Given the description of an element on the screen output the (x, y) to click on. 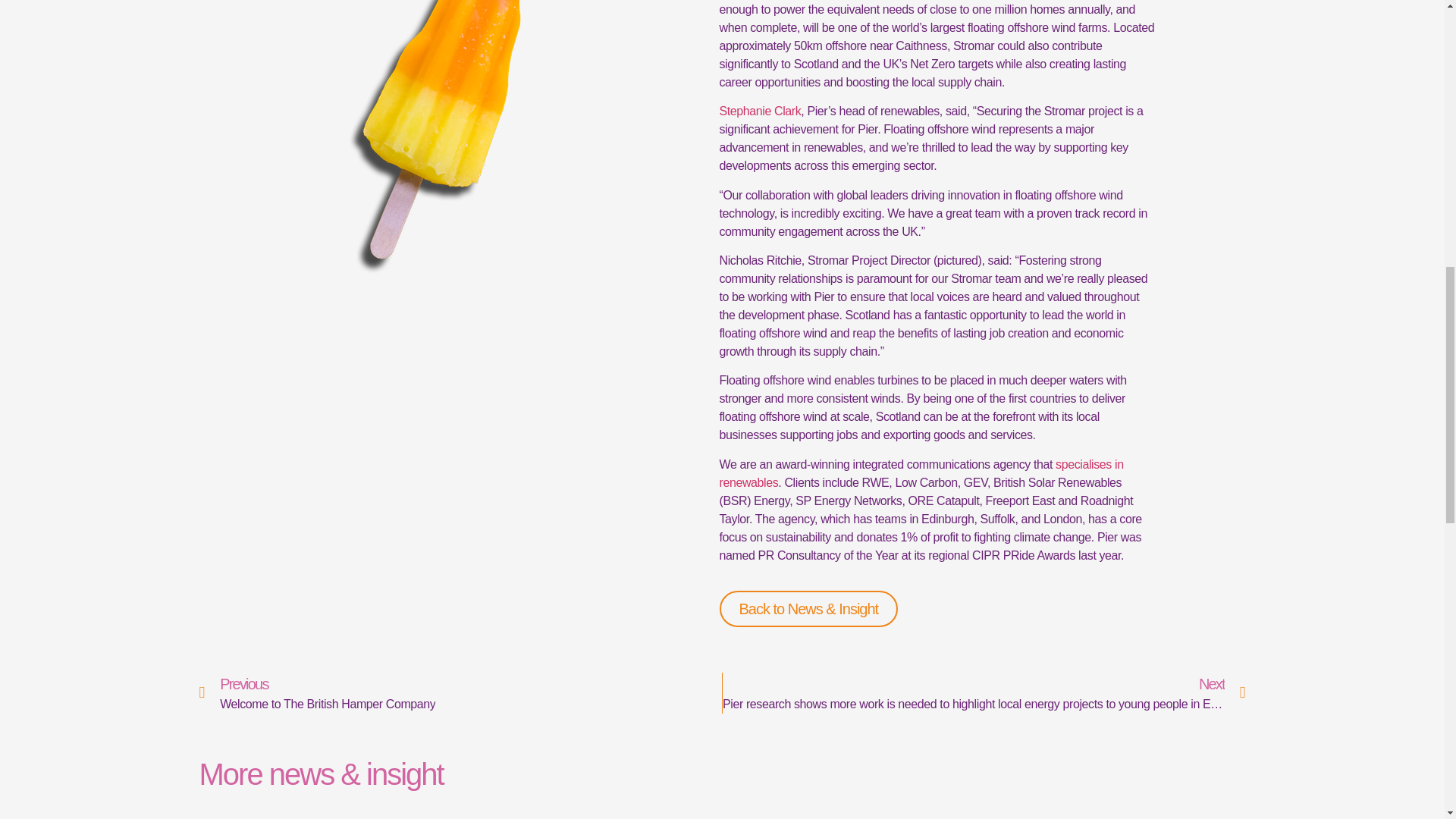
Stephanie Clark (759, 110)
specialises in renewables (920, 472)
